Given the description of an element on the screen output the (x, y) to click on. 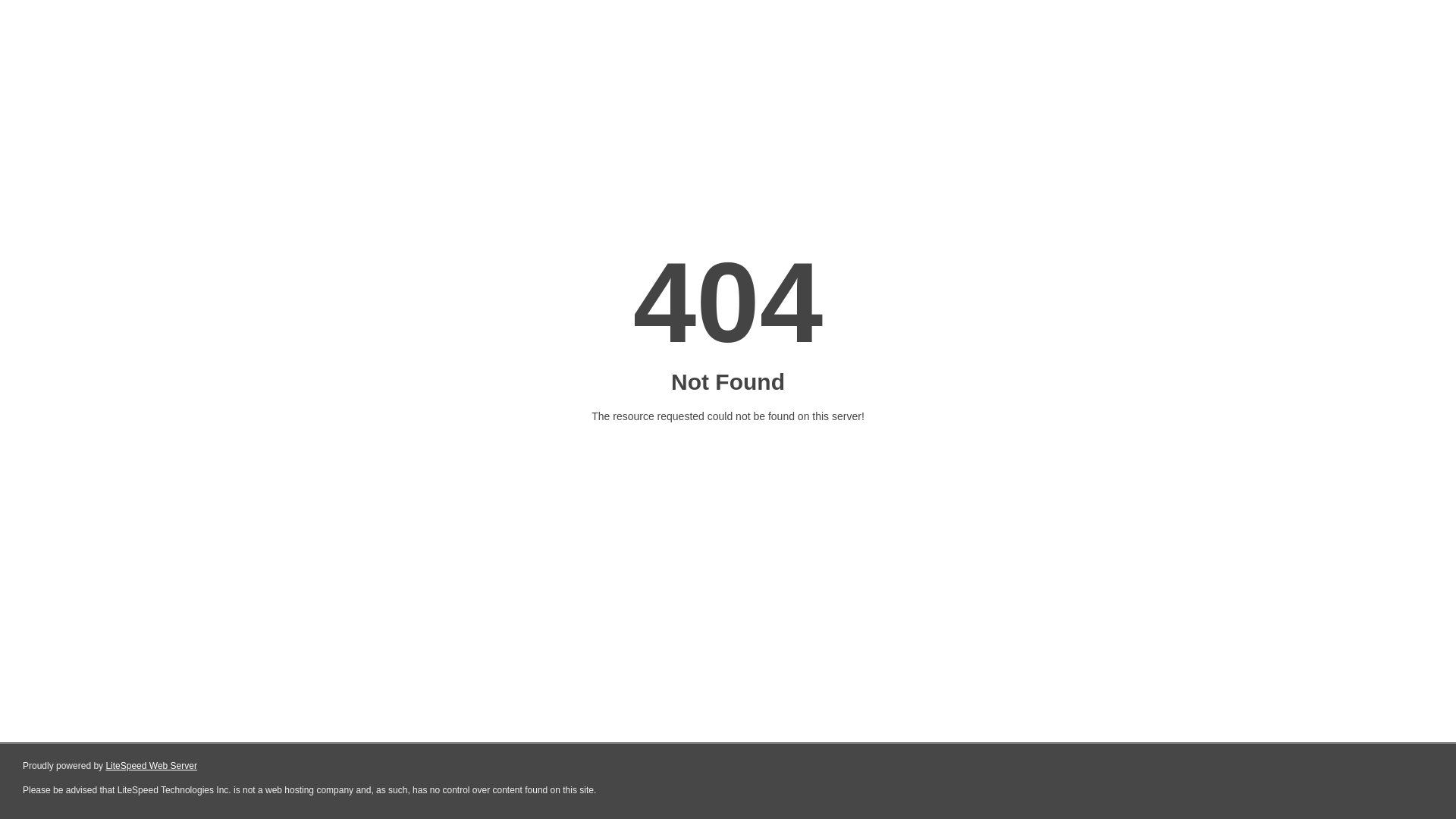
LiteSpeed Web Server Element type: text (151, 765)
